Given the description of an element on the screen output the (x, y) to click on. 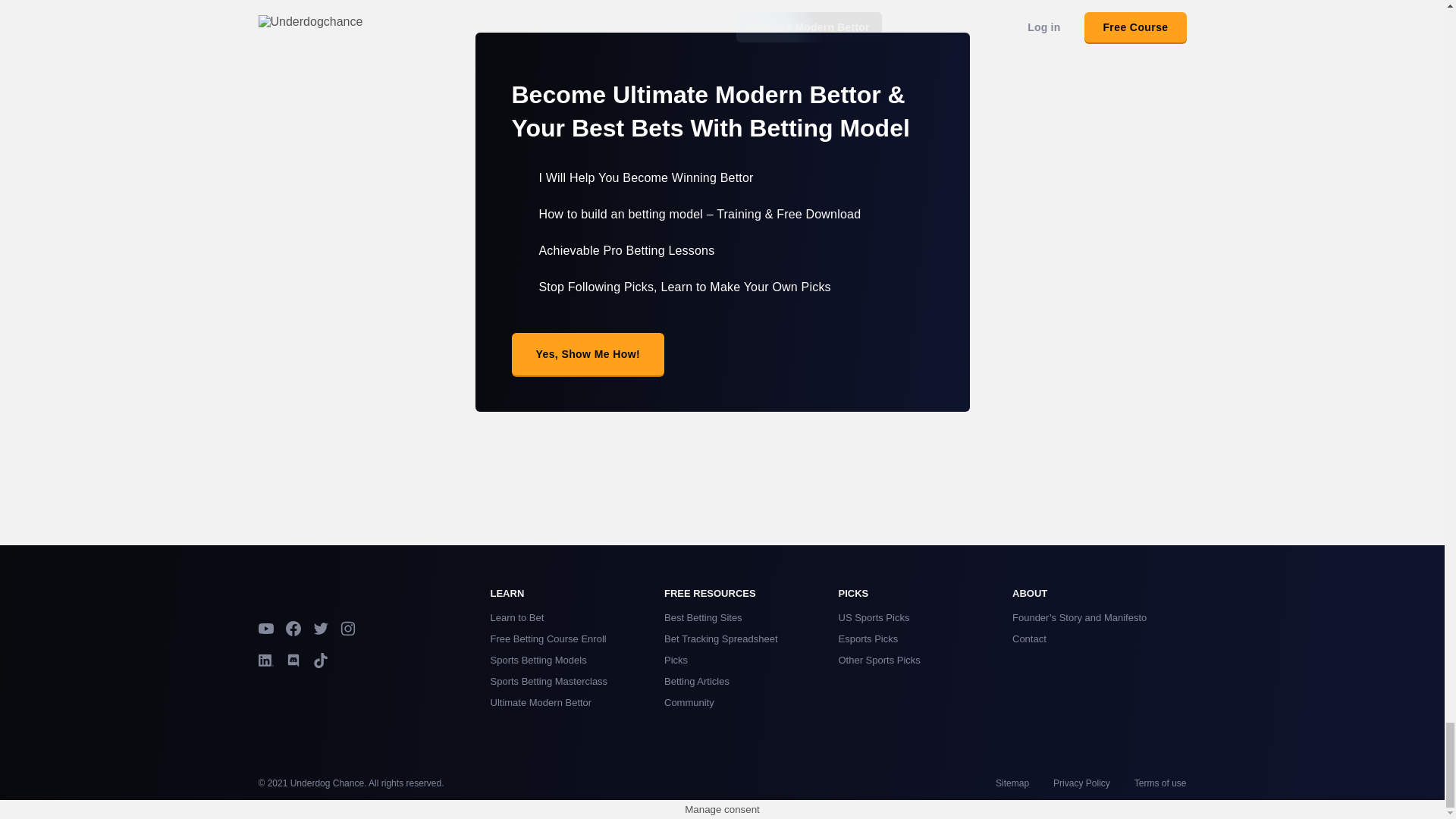
Yes, Show Me How! (587, 353)
